Given the description of an element on the screen output the (x, y) to click on. 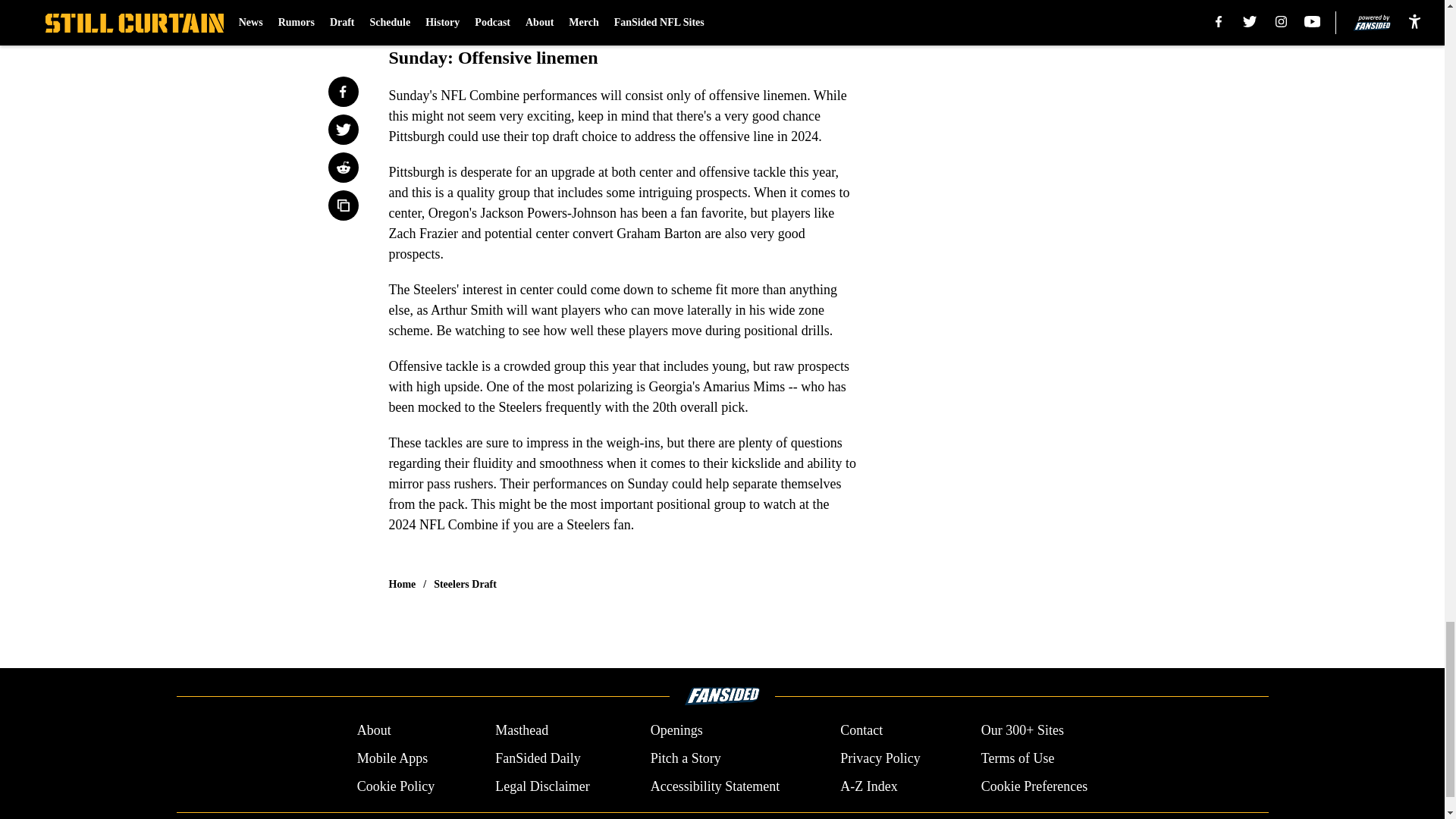
Steelers Draft (464, 584)
Accessibility Statement (714, 786)
Cookie Policy (395, 786)
Privacy Policy (880, 758)
Pitch a Story (685, 758)
Contact (861, 730)
FanSided Daily (537, 758)
Openings (676, 730)
Terms of Use (1017, 758)
Mobile Apps (392, 758)
About (373, 730)
Legal Disclaimer (542, 786)
Masthead (521, 730)
Home (401, 584)
